Given the description of an element on the screen output the (x, y) to click on. 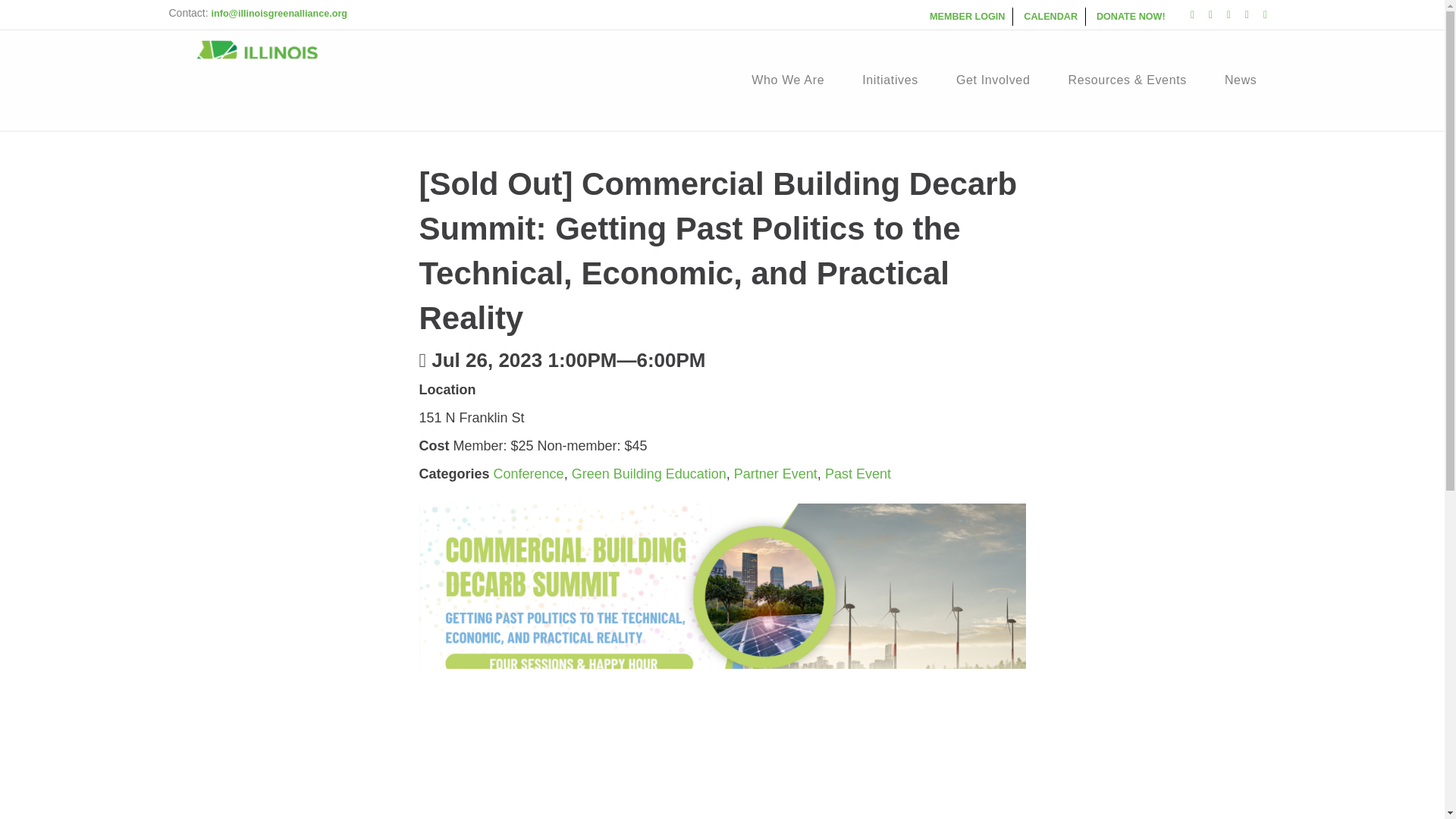
Flickr (1246, 14)
MEMBER LOGIN (967, 16)
Who We Are (788, 80)
Linkedin (1228, 14)
CALENDAR (1051, 16)
Initiatives (890, 80)
Facebook (1191, 14)
Twitter (1210, 14)
Get Involved (992, 80)
Instagram (1264, 14)
